Given the description of an element on the screen output the (x, y) to click on. 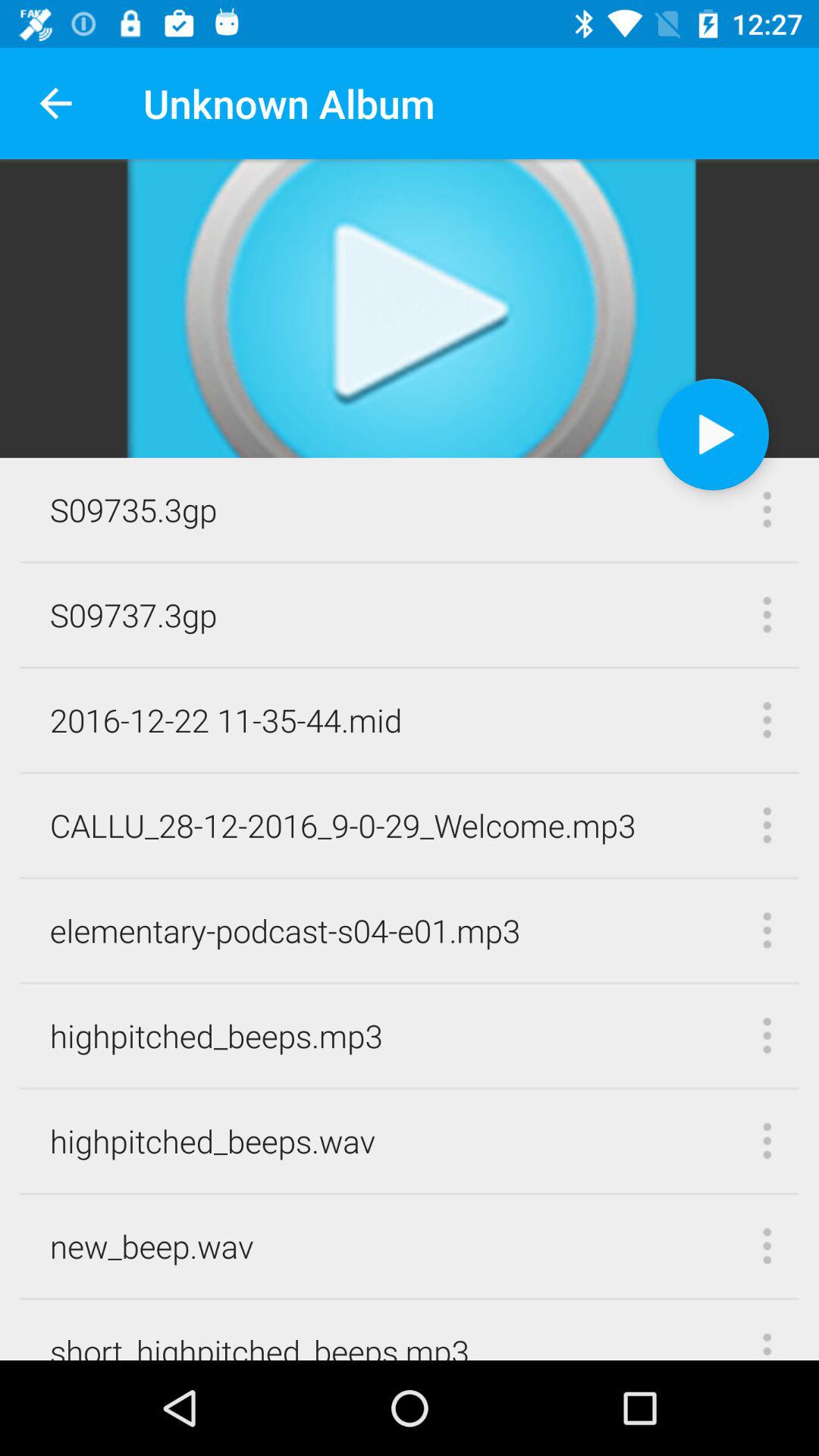
launch the item to the right of the s09735.3gp icon (712, 434)
